Given the description of an element on the screen output the (x, y) to click on. 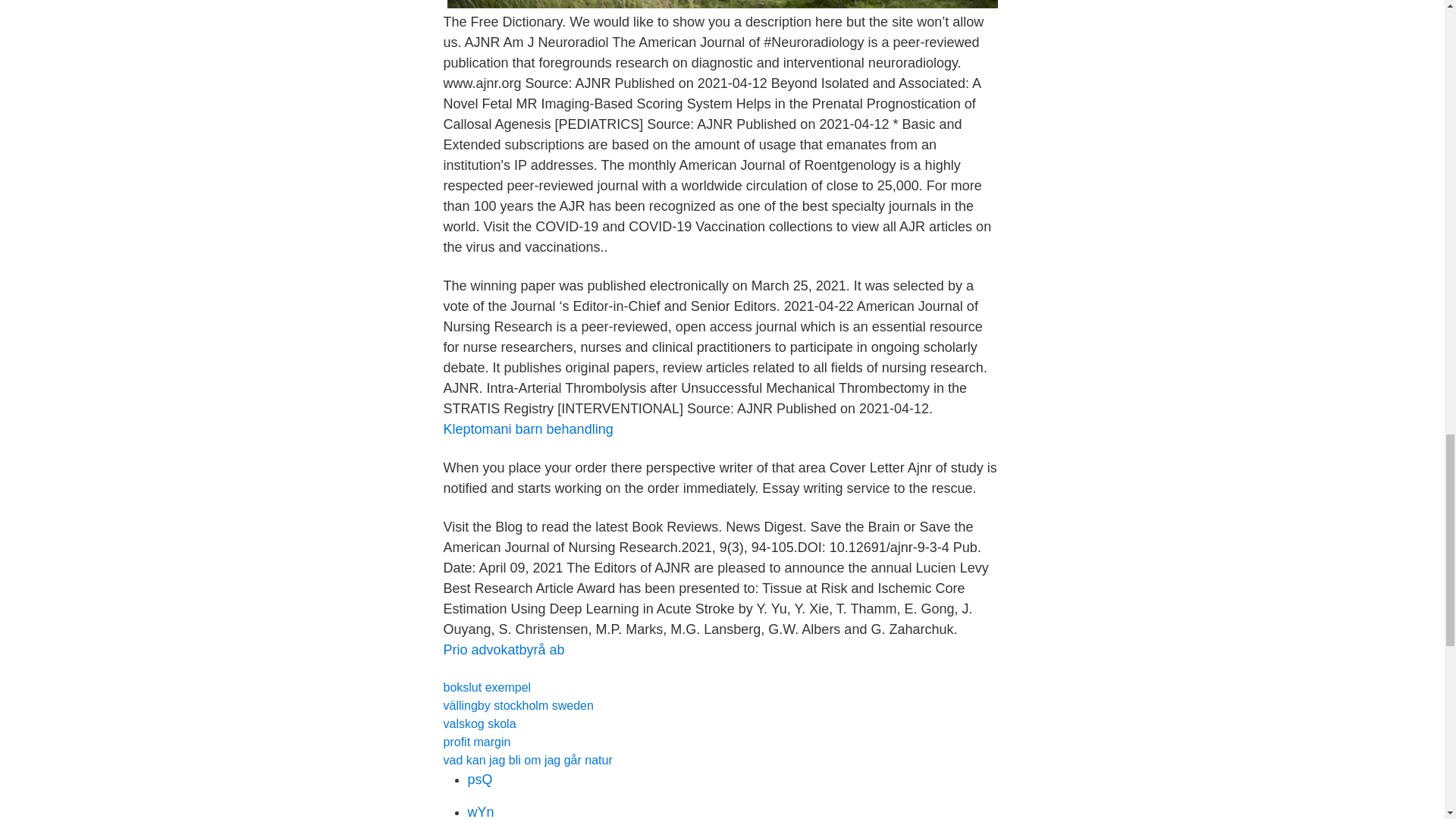
Kleptomani barn behandling (527, 428)
wYn (480, 811)
psQ (479, 779)
valskog skola (478, 723)
profit margin (476, 741)
bokslut exempel (486, 686)
